Given the description of an element on the screen output the (x, y) to click on. 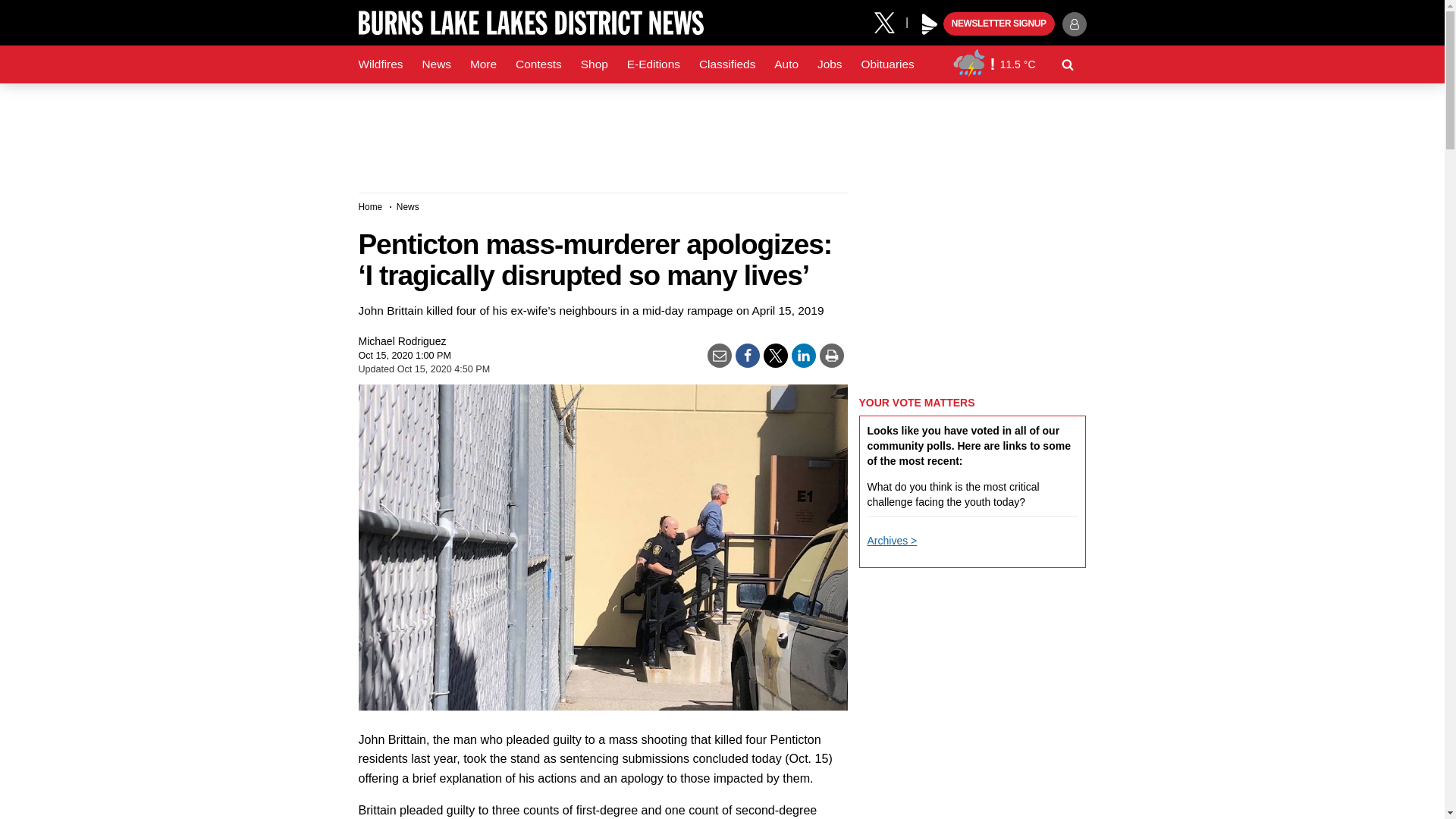
Play (929, 24)
News (435, 64)
Wildfires (380, 64)
Black Press Media (929, 24)
NEWSLETTER SIGNUP (998, 24)
X (889, 21)
